Given the description of an element on the screen output the (x, y) to click on. 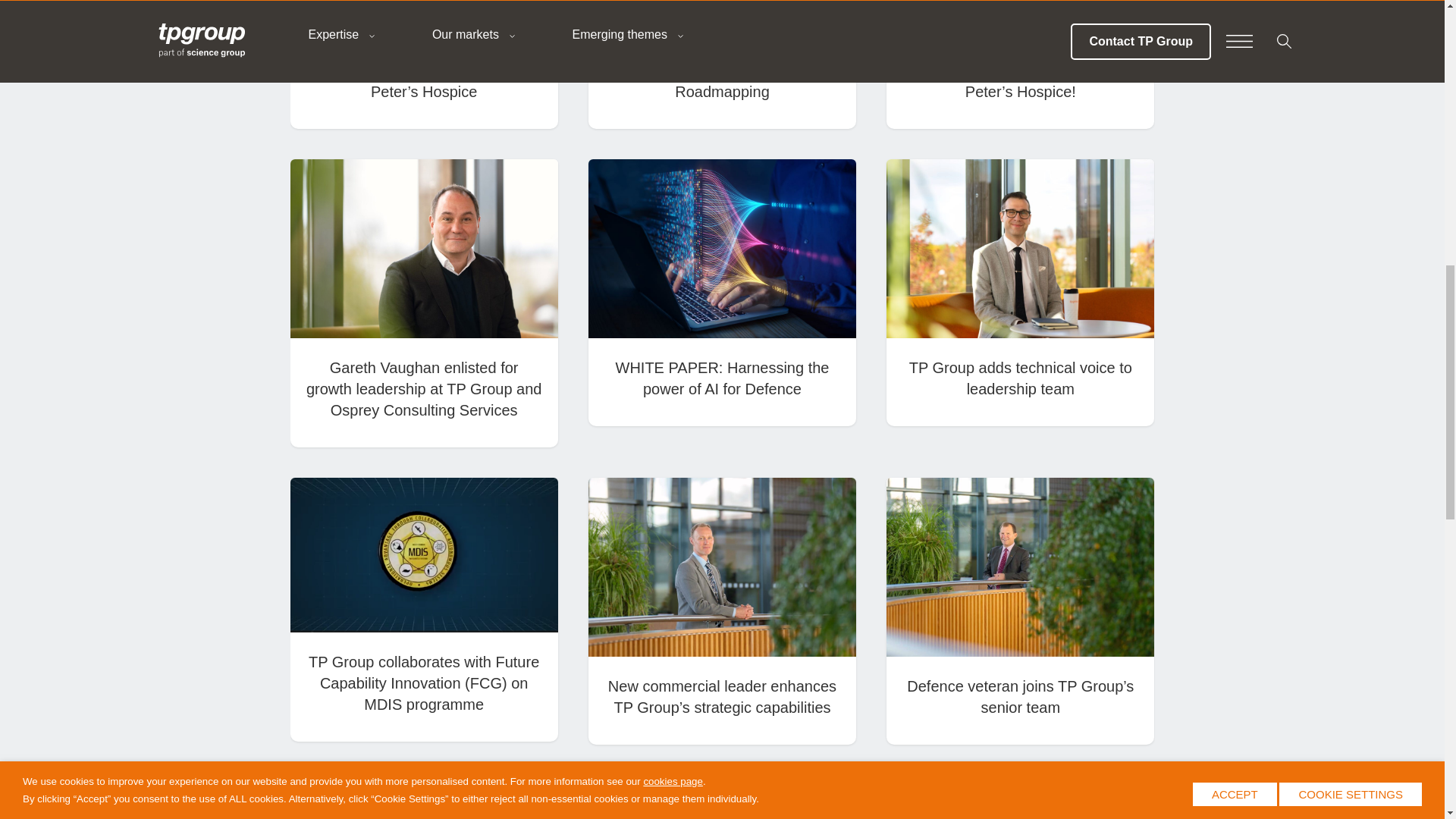
WHITE PAPER: Technology Roadmapping (721, 80)
WHITE PAPER: Harnessing the power of AI for Defence (722, 378)
TP Group adds technical voice to leadership team (1020, 378)
